Given the description of an element on the screen output the (x, y) to click on. 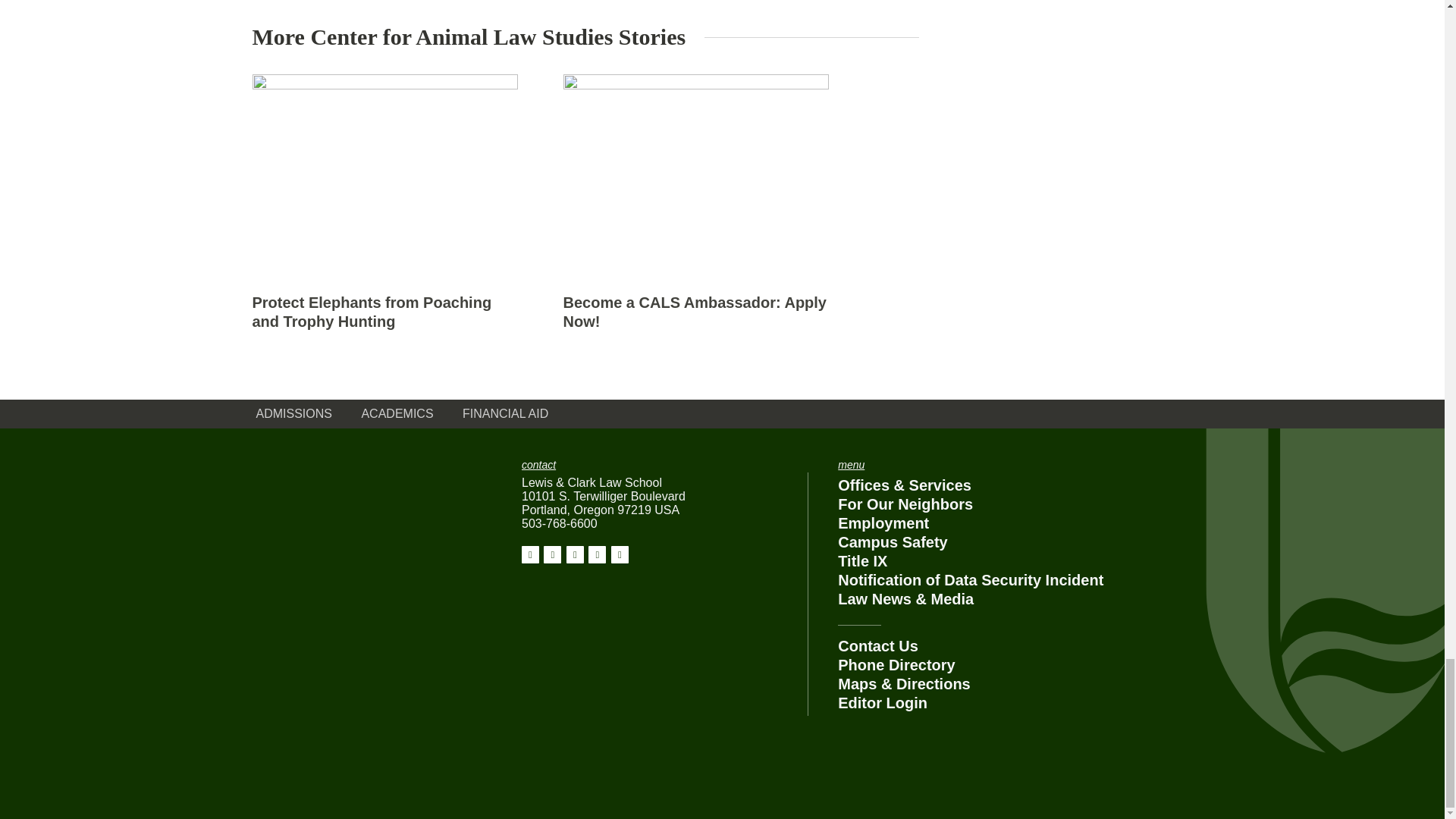
Protect Elephants from Poaching and Trophy Hunting (371, 312)
View our YouTube (619, 554)
View our Twitter (574, 554)
View our Instagram (551, 554)
View our LinkedIn (596, 554)
View our Facebook page (529, 554)
